Given the description of an element on the screen output the (x, y) to click on. 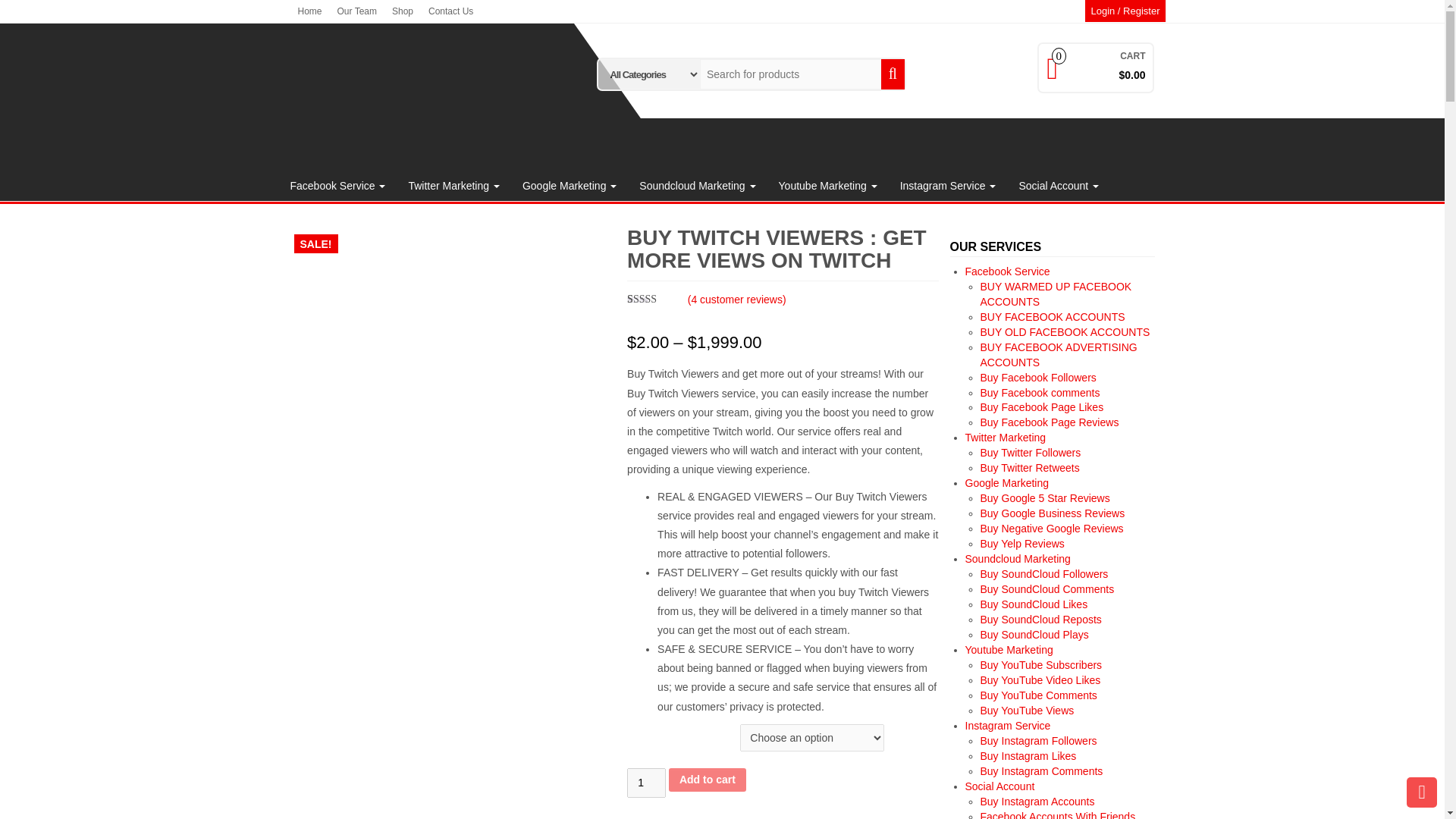
Home (309, 11)
Youtube Marketing (827, 185)
Shop (402, 11)
Facebook Service (338, 185)
Contact Us (450, 11)
1 (646, 782)
Twitter Marketing (453, 185)
Home (309, 11)
Facebook Service (338, 185)
Instagram Service (947, 185)
